Given the description of an element on the screen output the (x, y) to click on. 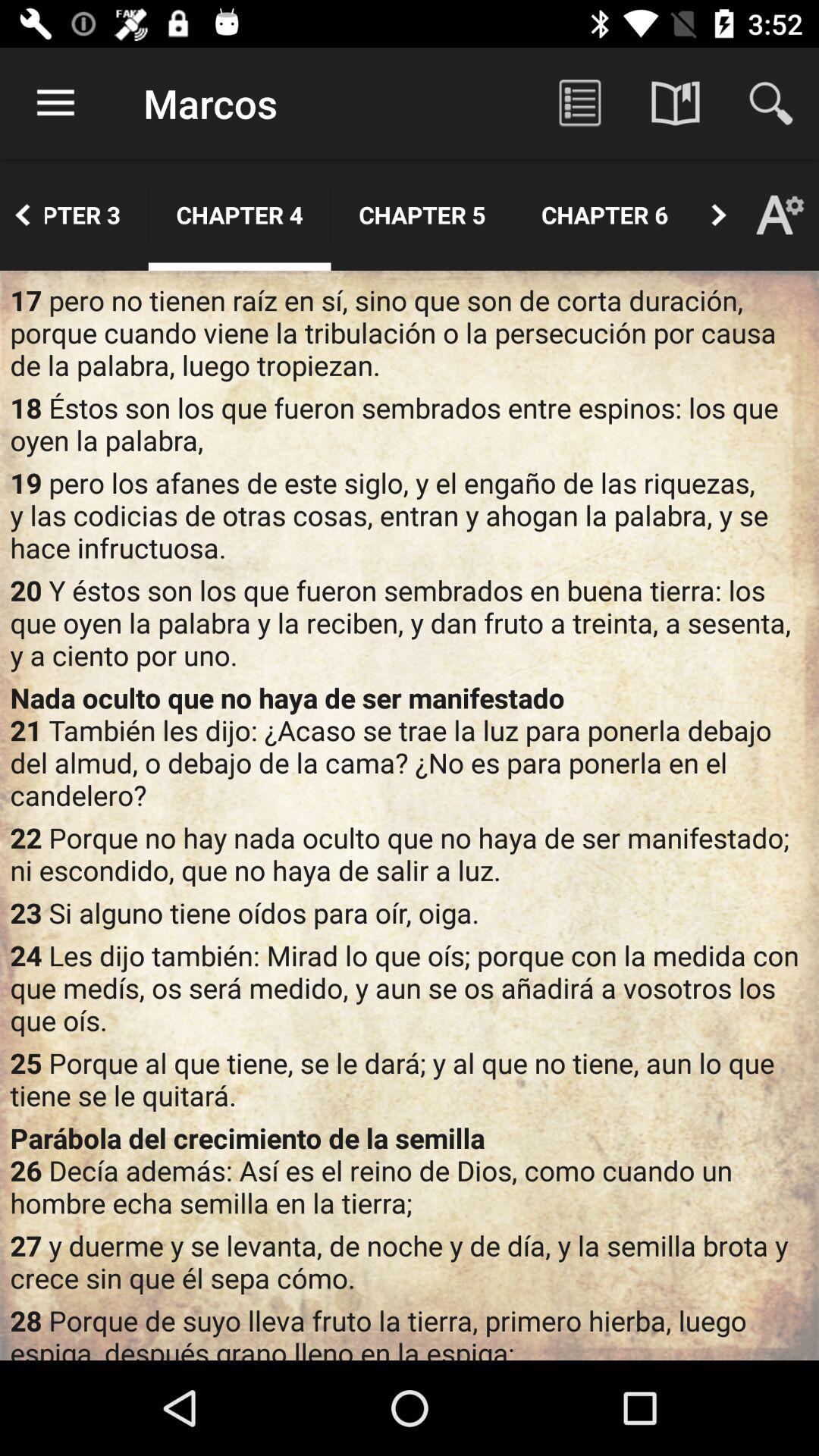
click item above the 24 les dijo icon (409, 912)
